Given the description of an element on the screen output the (x, y) to click on. 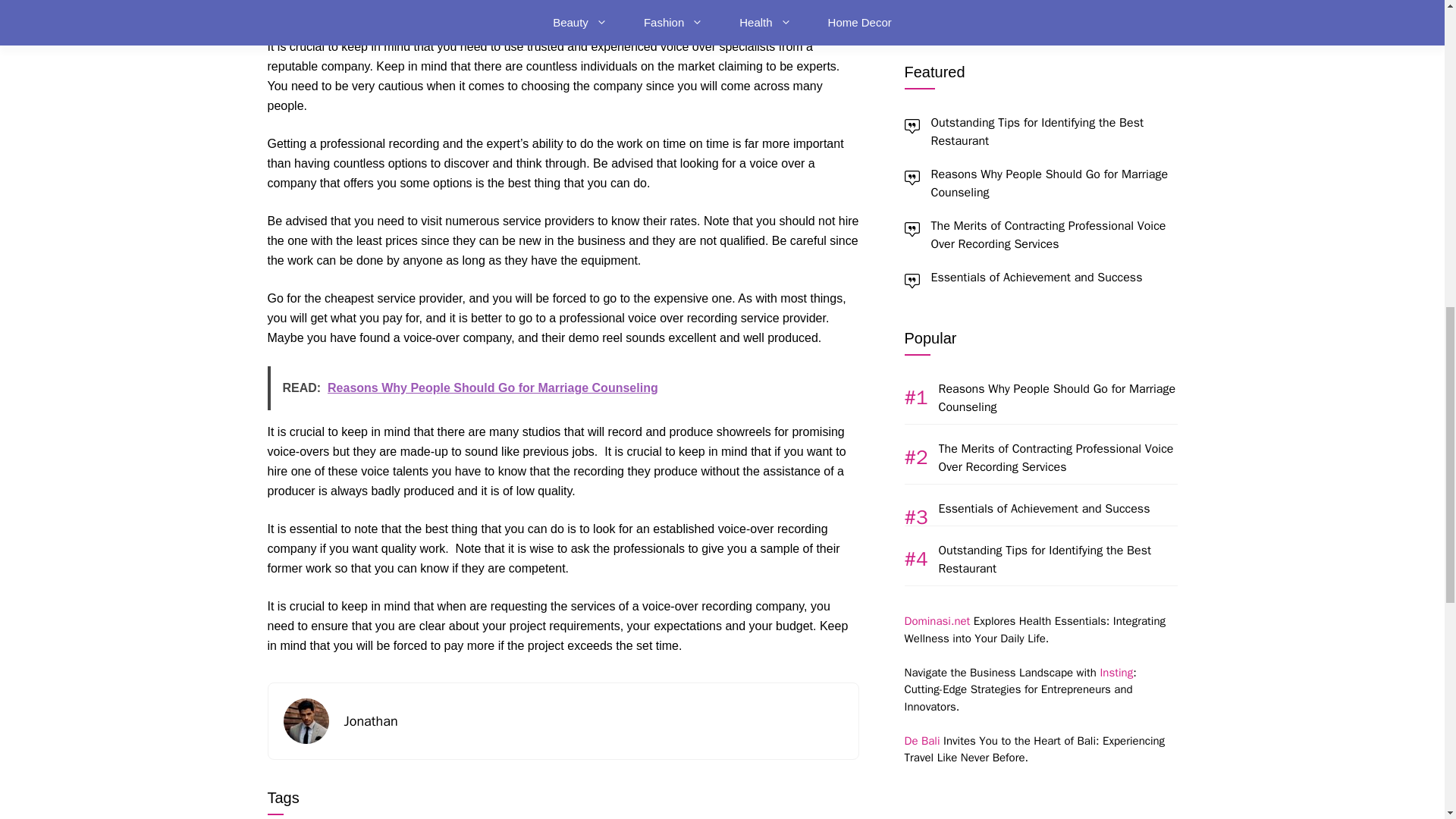
READ:  Reasons Why People Should Go for Marriage Counseling (562, 388)
Jonathan (370, 720)
